Given the description of an element on the screen output the (x, y) to click on. 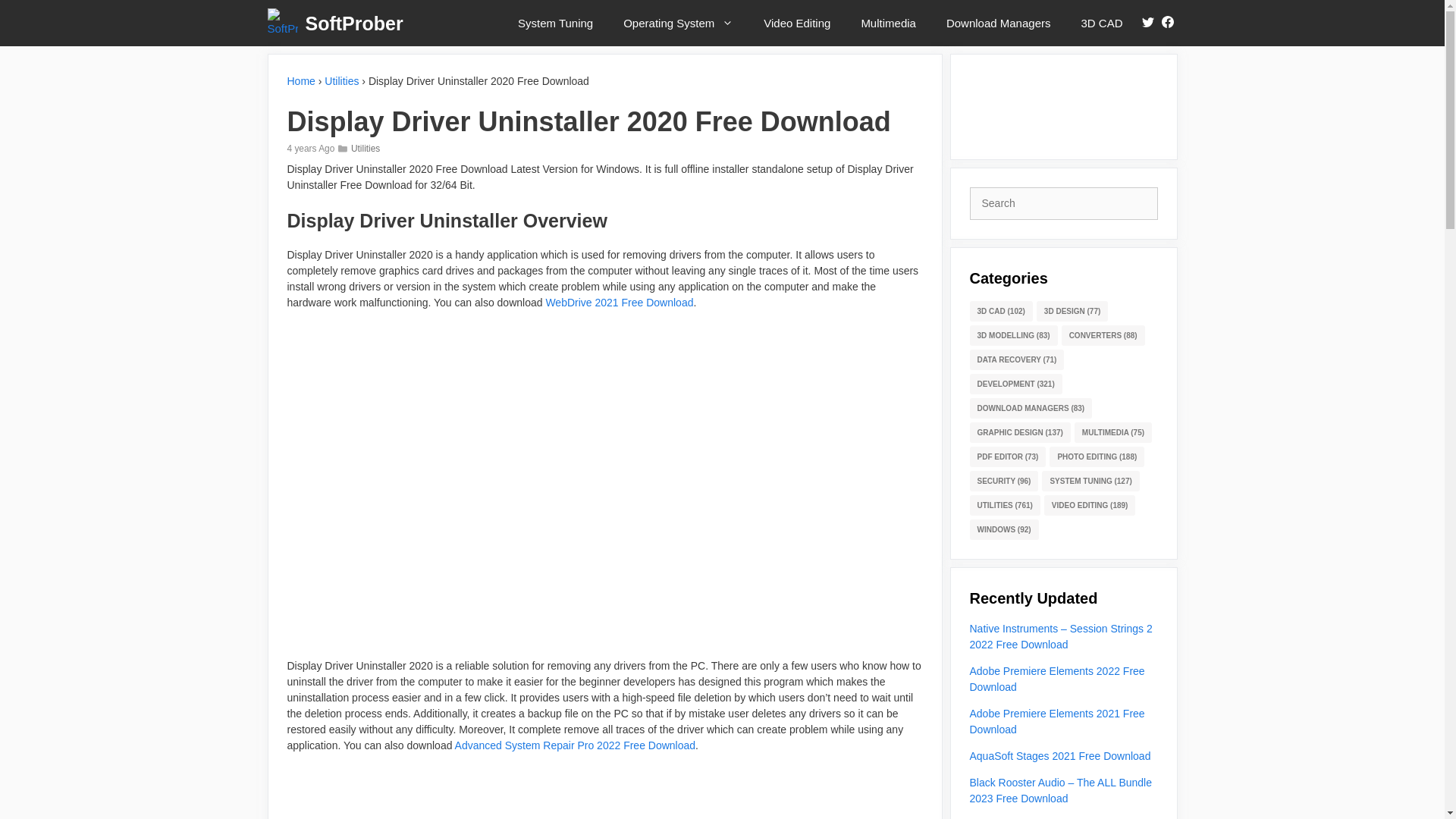
Multimedia (888, 22)
Operating System (678, 22)
Utilities (341, 80)
SoftProber (353, 22)
Utilities (365, 148)
Download Managers (998, 22)
WebDrive 2021 Free Download (618, 302)
3D CAD (1101, 22)
Video Editing (796, 22)
SoftProber (281, 22)
SoftProber (285, 22)
Display Driver Uninstaller 2020 Free Download-Softprober.com (604, 484)
System Tuning (555, 22)
Search for: (1063, 203)
